Given the description of an element on the screen output the (x, y) to click on. 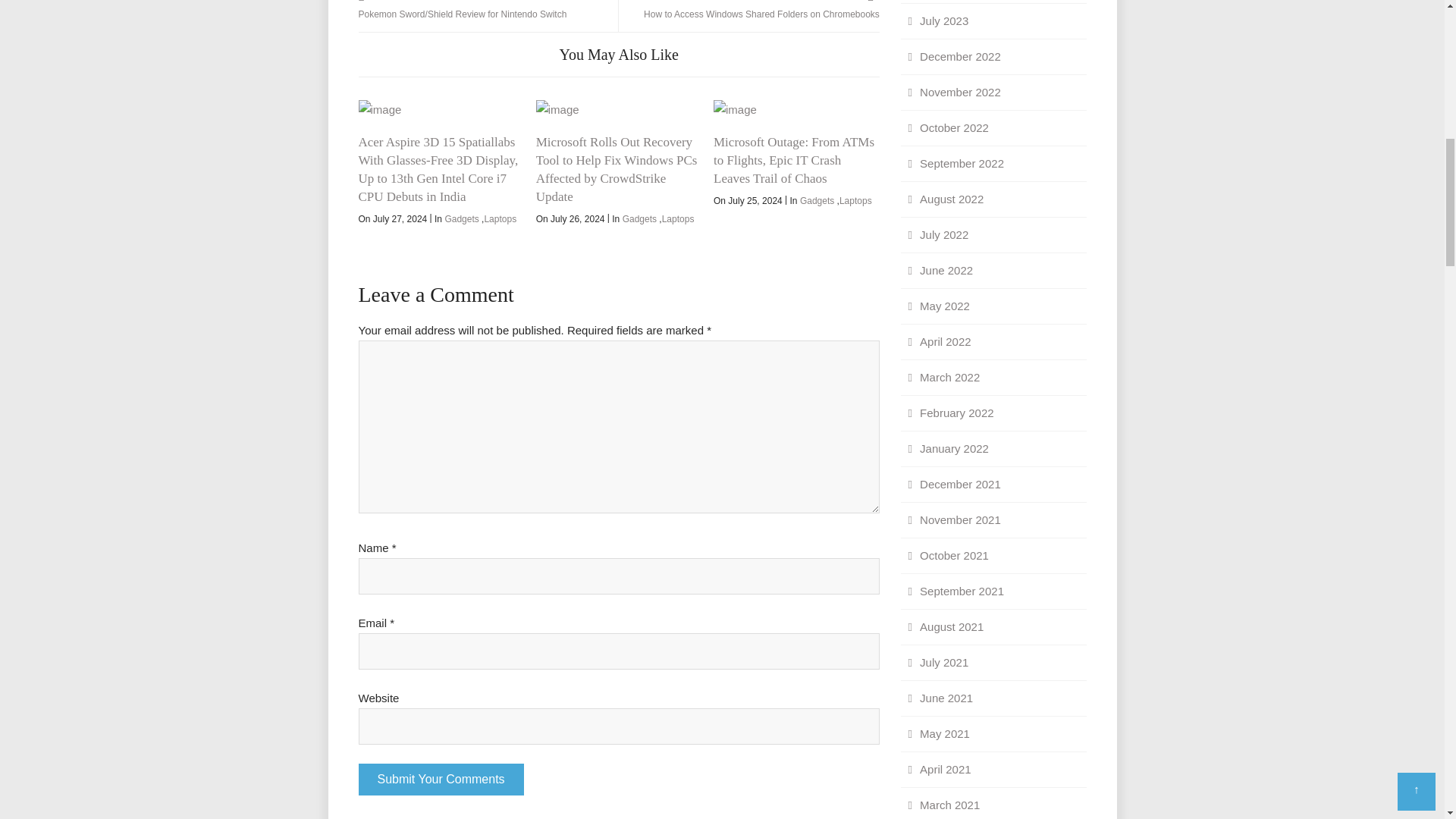
Submit Your Comments (440, 779)
